Given the description of an element on the screen output the (x, y) to click on. 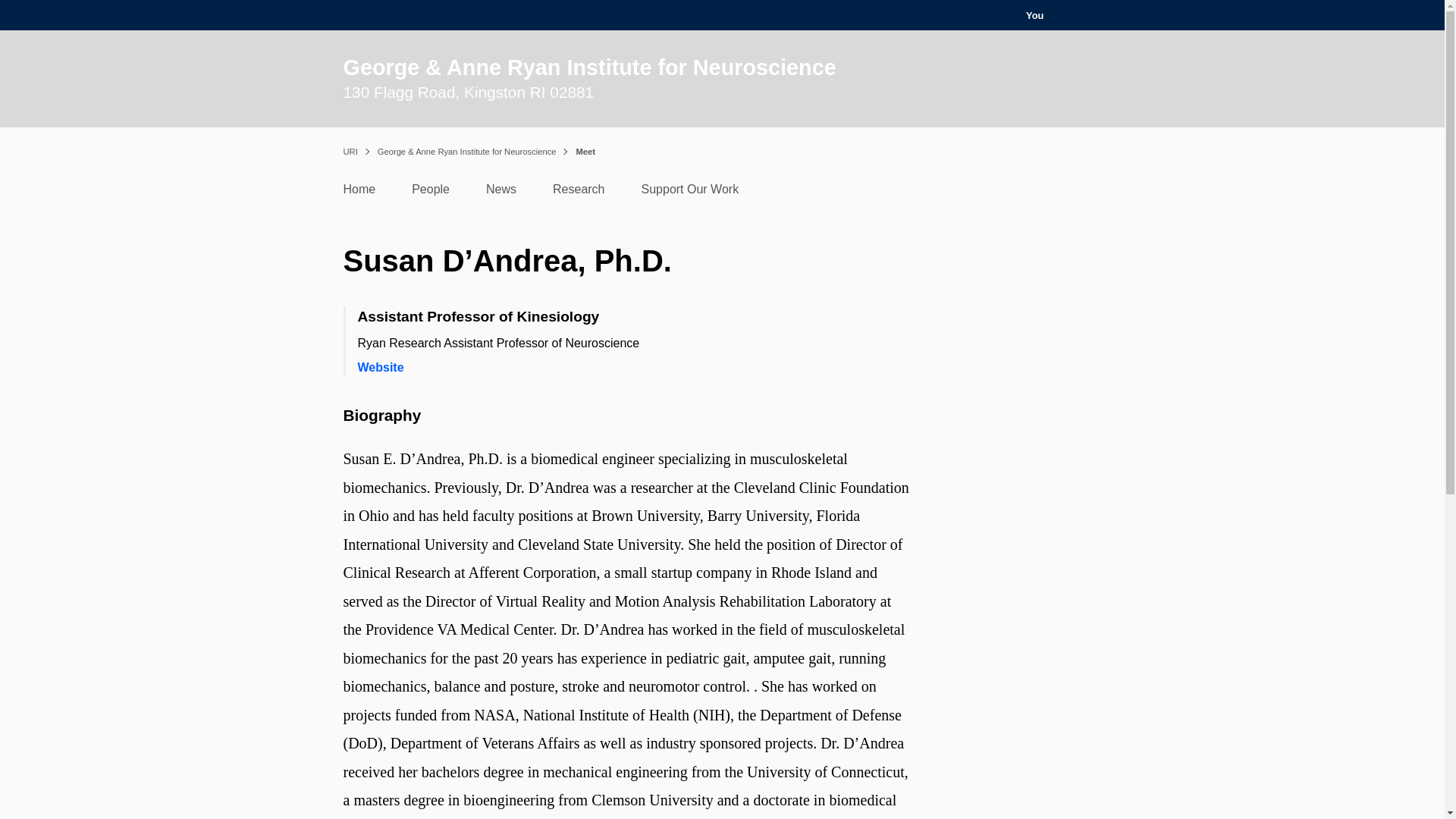
Website (381, 367)
News (501, 192)
Home (358, 192)
Research (578, 192)
Support Our Work (690, 192)
People (430, 192)
URI (349, 151)
